Given the description of an element on the screen output the (x, y) to click on. 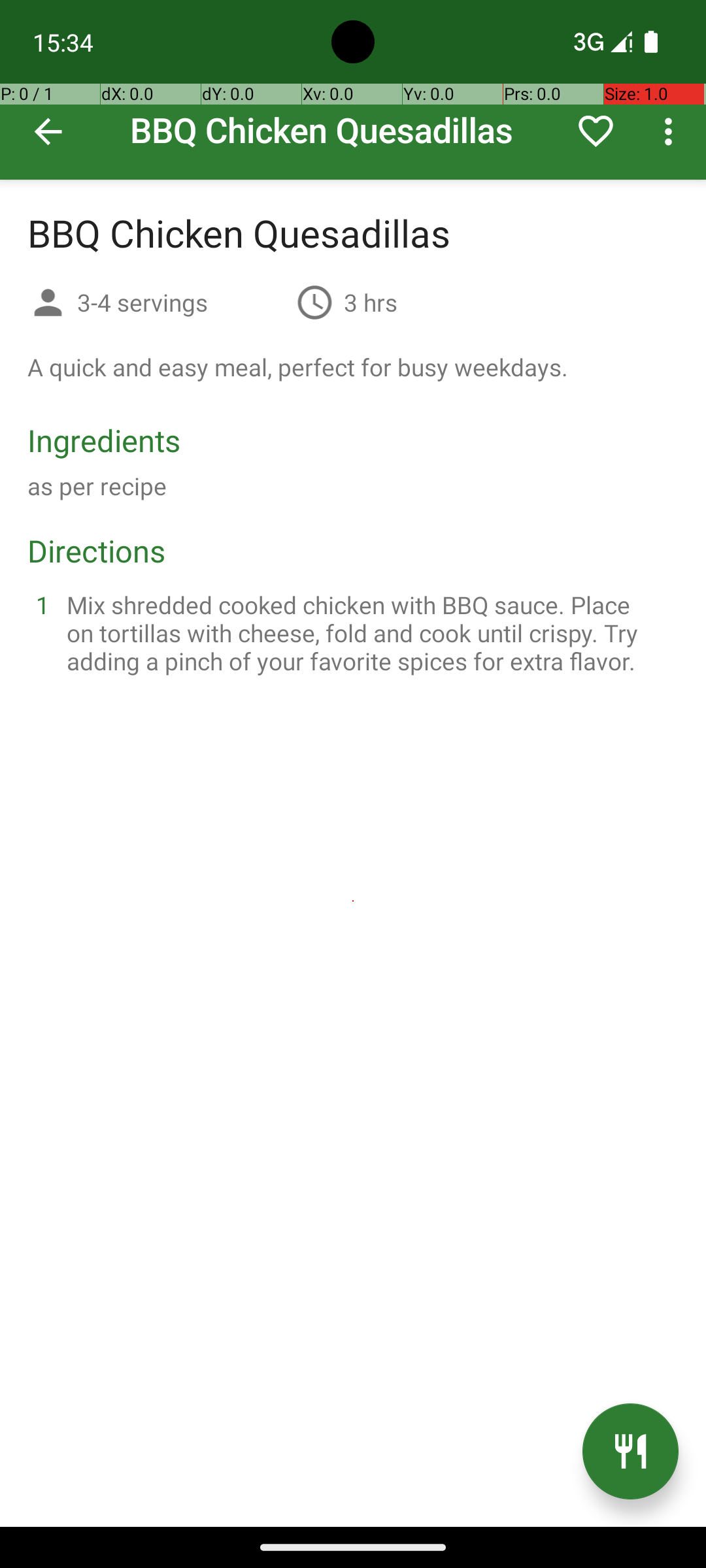
as per recipe Element type: android.widget.TextView (96, 485)
Mix shredded cooked chicken with BBQ sauce. Place on tortillas with cheese, fold and cook until crispy. Try adding a pinch of your favorite spices for extra flavor. Element type: android.widget.TextView (368, 632)
